Given the description of an element on the screen output the (x, y) to click on. 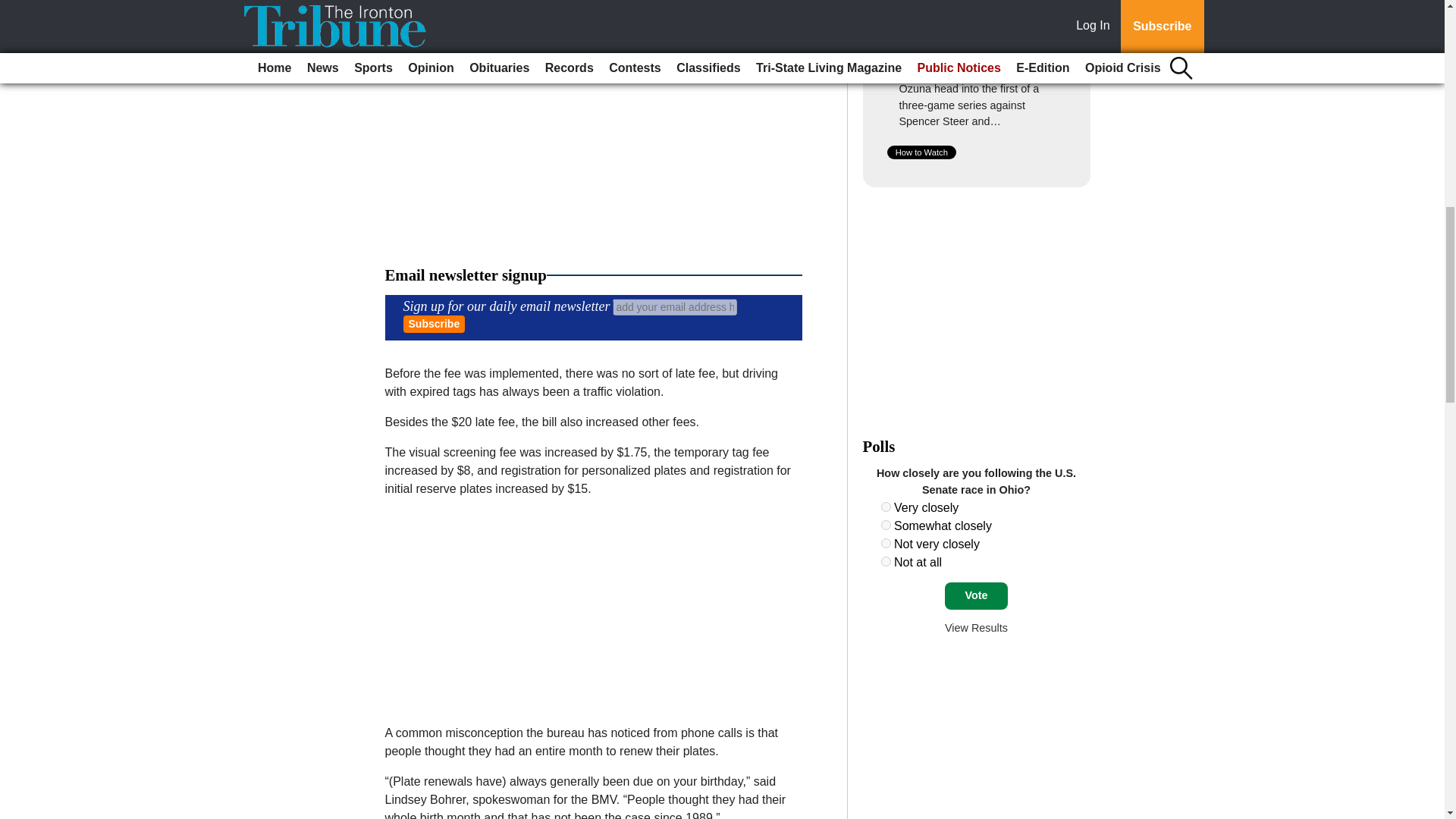
1435 (885, 561)
1433 (885, 524)
View Results Of This Poll (975, 627)
Subscribe (434, 323)
1434 (885, 542)
View Results (975, 627)
1432 (885, 506)
   Vote    (975, 595)
How to Watch (921, 151)
Subscribe (434, 323)
